Given the description of an element on the screen output the (x, y) to click on. 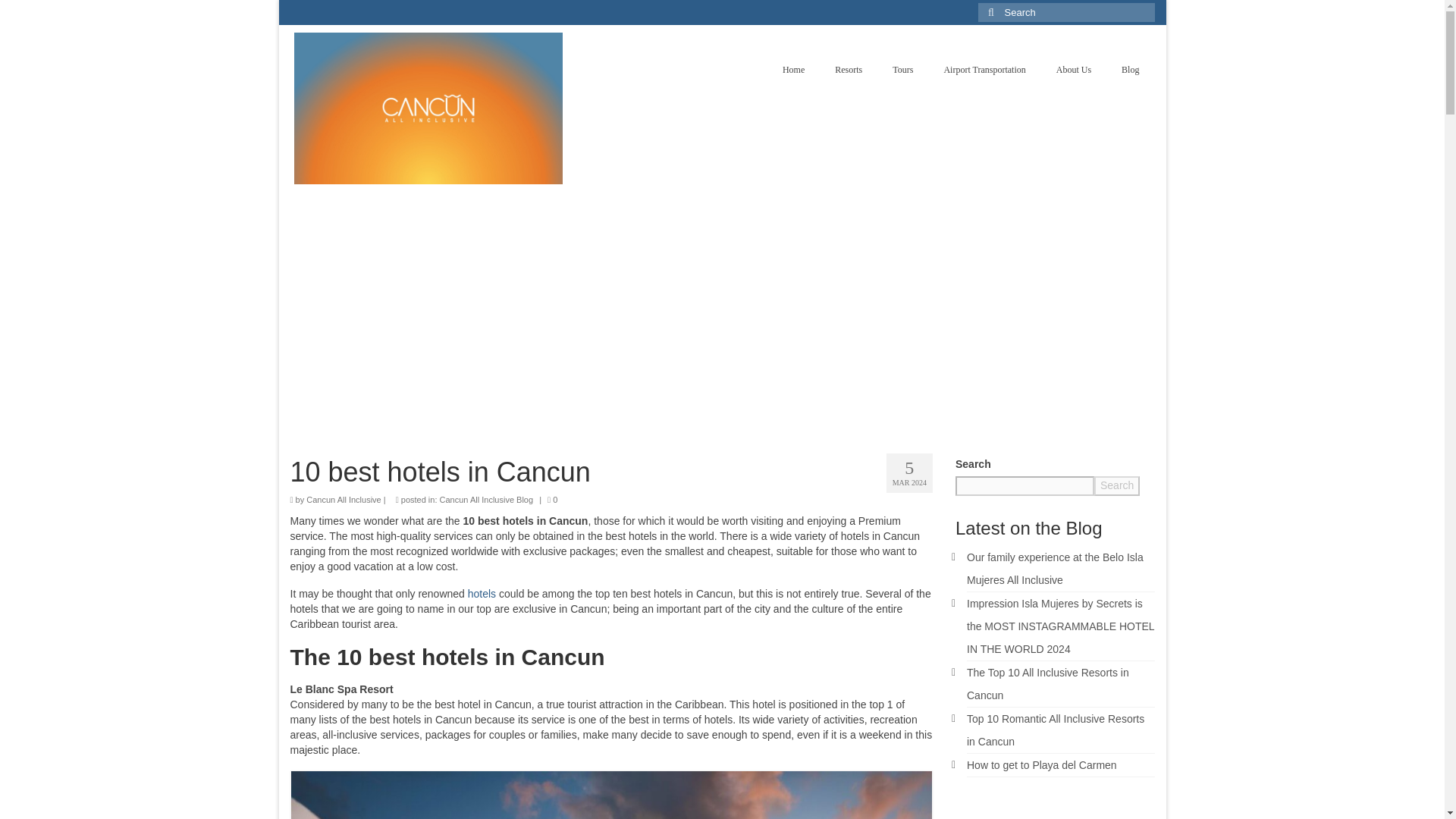
Cancun All Inclusive Blog (486, 499)
hotels (480, 593)
Blog (1130, 69)
Cancun All Inclusive (342, 499)
About Us (1073, 69)
Home (793, 69)
Tours (902, 69)
Resorts (848, 69)
Airport Transportation (984, 69)
